Given the description of an element on the screen output the (x, y) to click on. 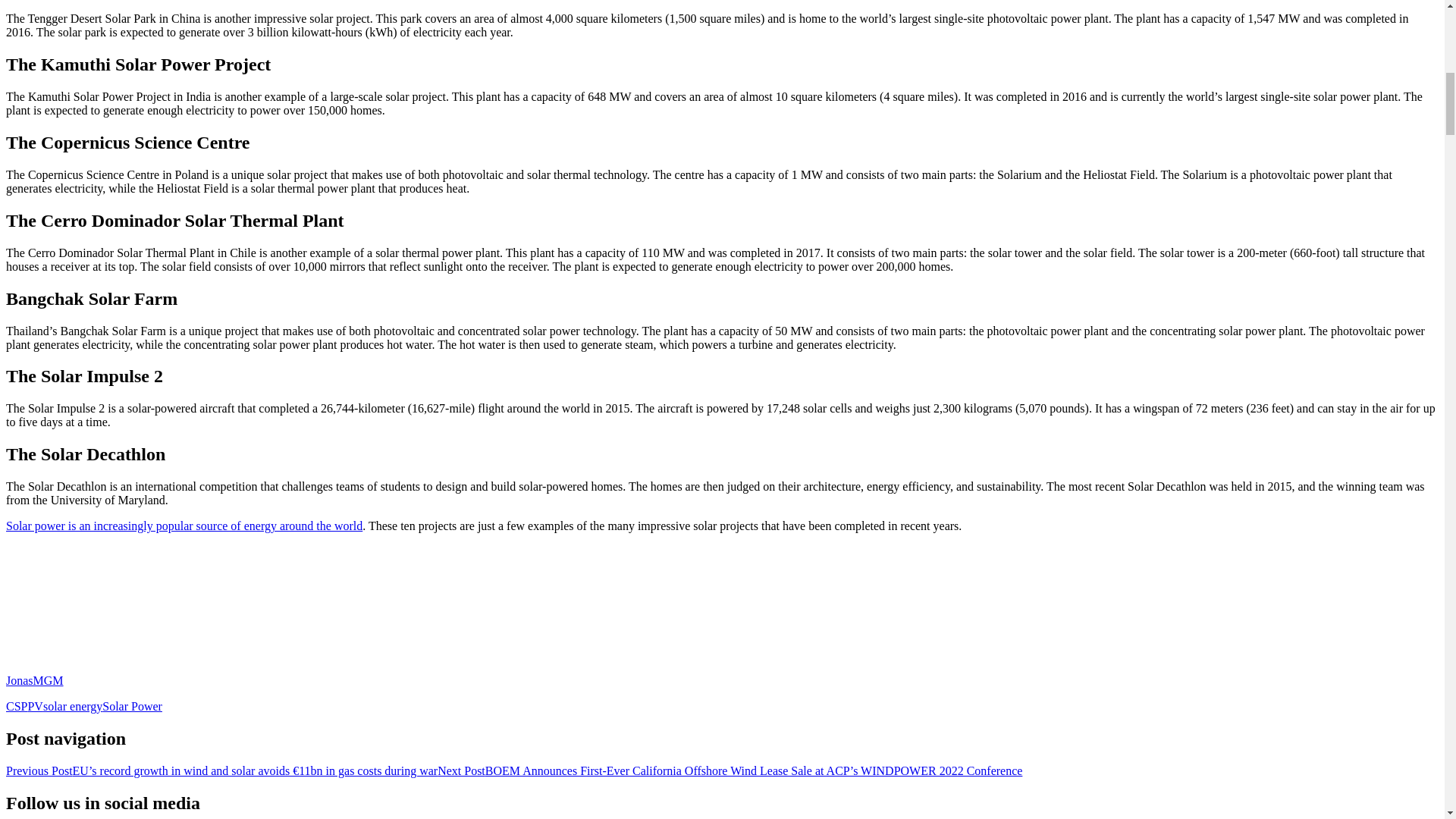
PV (34, 706)
JonasMGM (34, 680)
solar energy (72, 706)
CSP (16, 706)
Solar Power (131, 706)
